Given the description of an element on the screen output the (x, y) to click on. 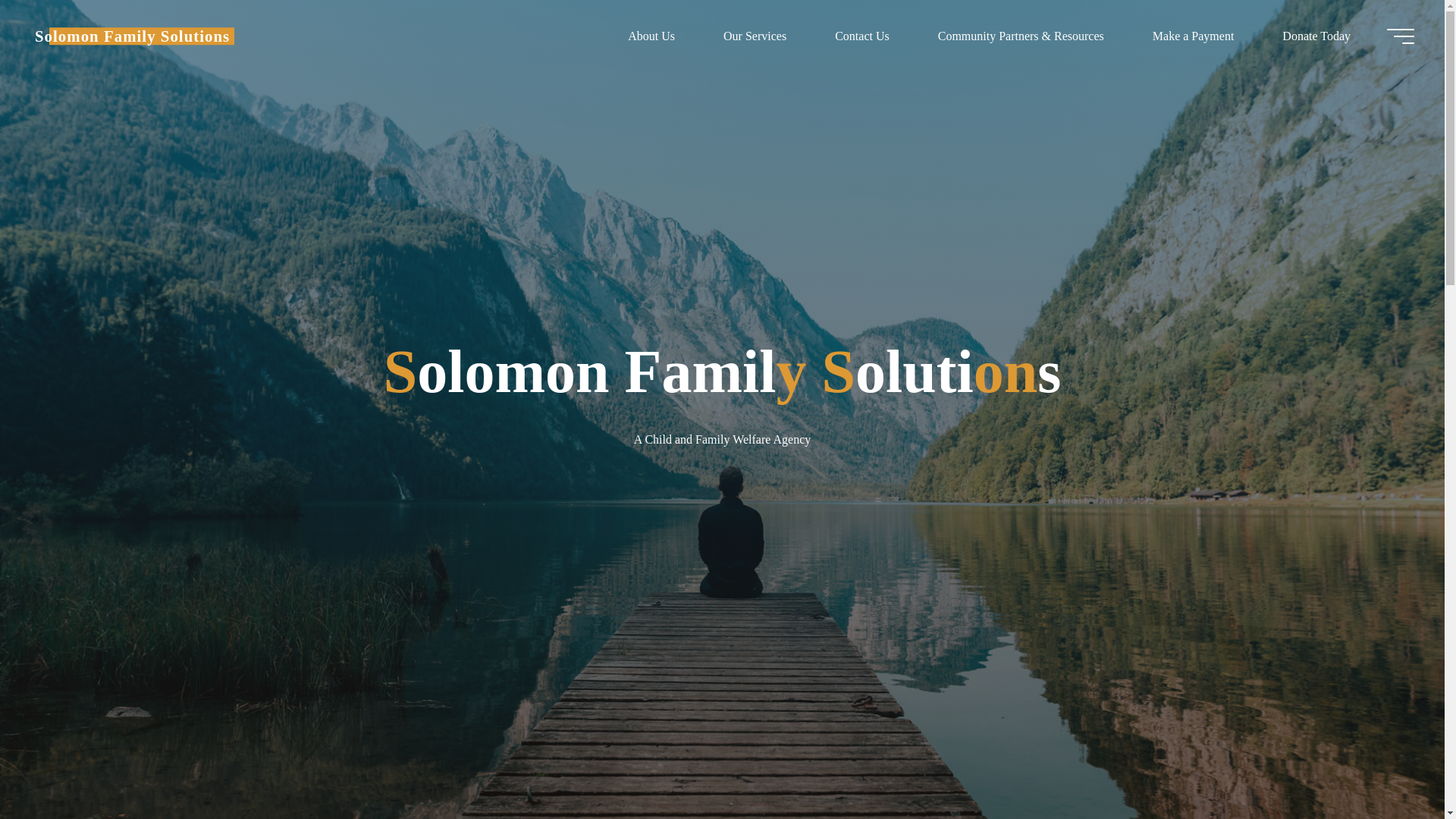
About Us (651, 35)
Read more (721, 724)
Make a Payment (1193, 35)
Donate Today (1315, 35)
Our Services (754, 35)
A Child and Family Welfare Agency (132, 36)
Contact Us (862, 35)
Solomon Family Solutions (132, 36)
